Given the description of an element on the screen output the (x, y) to click on. 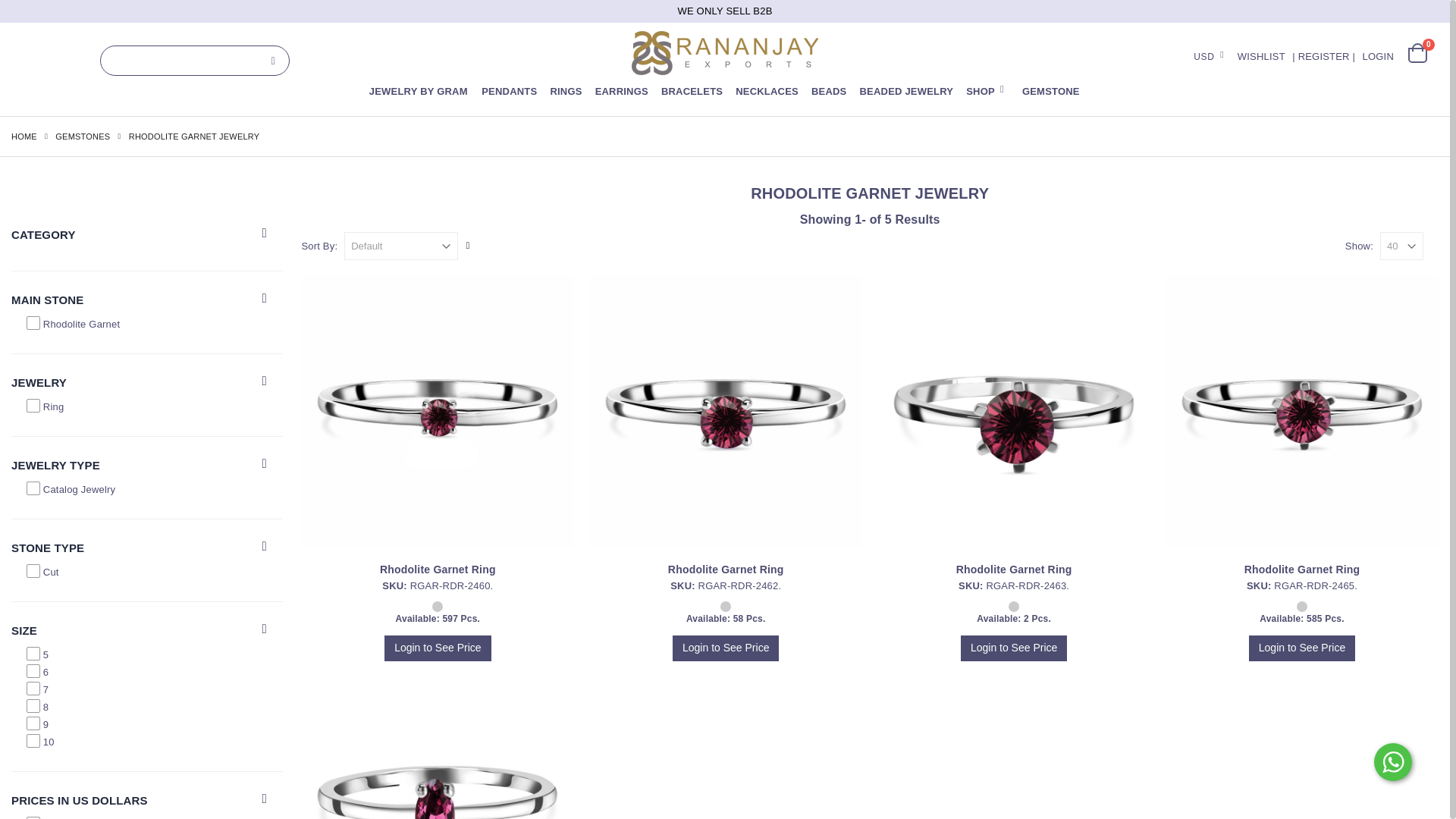
WISHLIST (1261, 55)
REGISTER (1323, 55)
JEWELRY BY GRAM (418, 88)
PENDANTS (509, 88)
BEADED JEWELRY (907, 88)
Search (273, 60)
NECKLACES (766, 88)
BRACELETS (691, 88)
LOGIN (1377, 55)
SEARCH (259, 60)
